Given the description of an element on the screen output the (x, y) to click on. 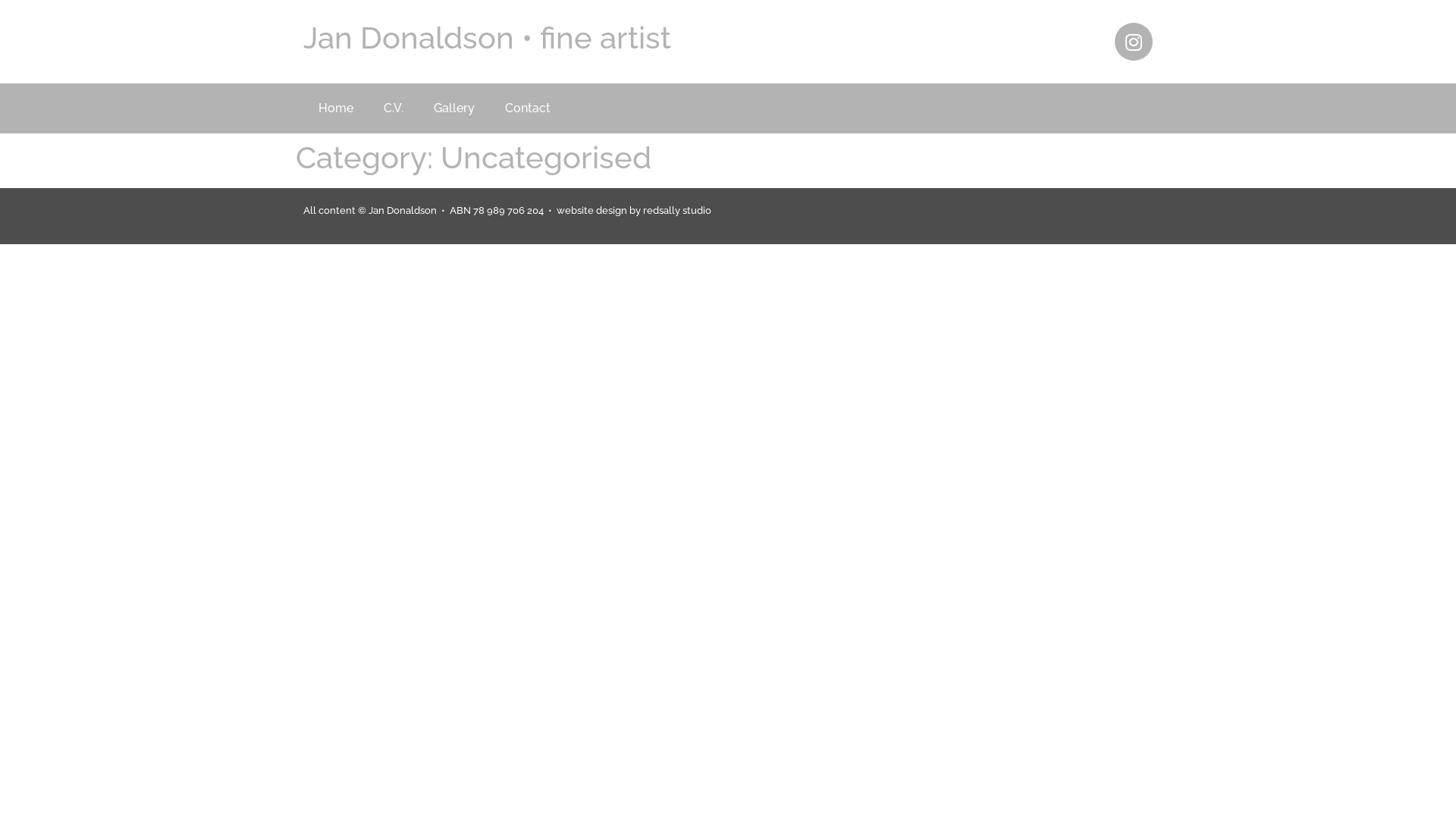
website design by redsally studio Element type: text (633, 210)
C.V. Element type: text (393, 108)
Gallery Element type: text (453, 108)
Home Element type: text (335, 108)
Contact Element type: text (527, 108)
